Given the description of an element on the screen output the (x, y) to click on. 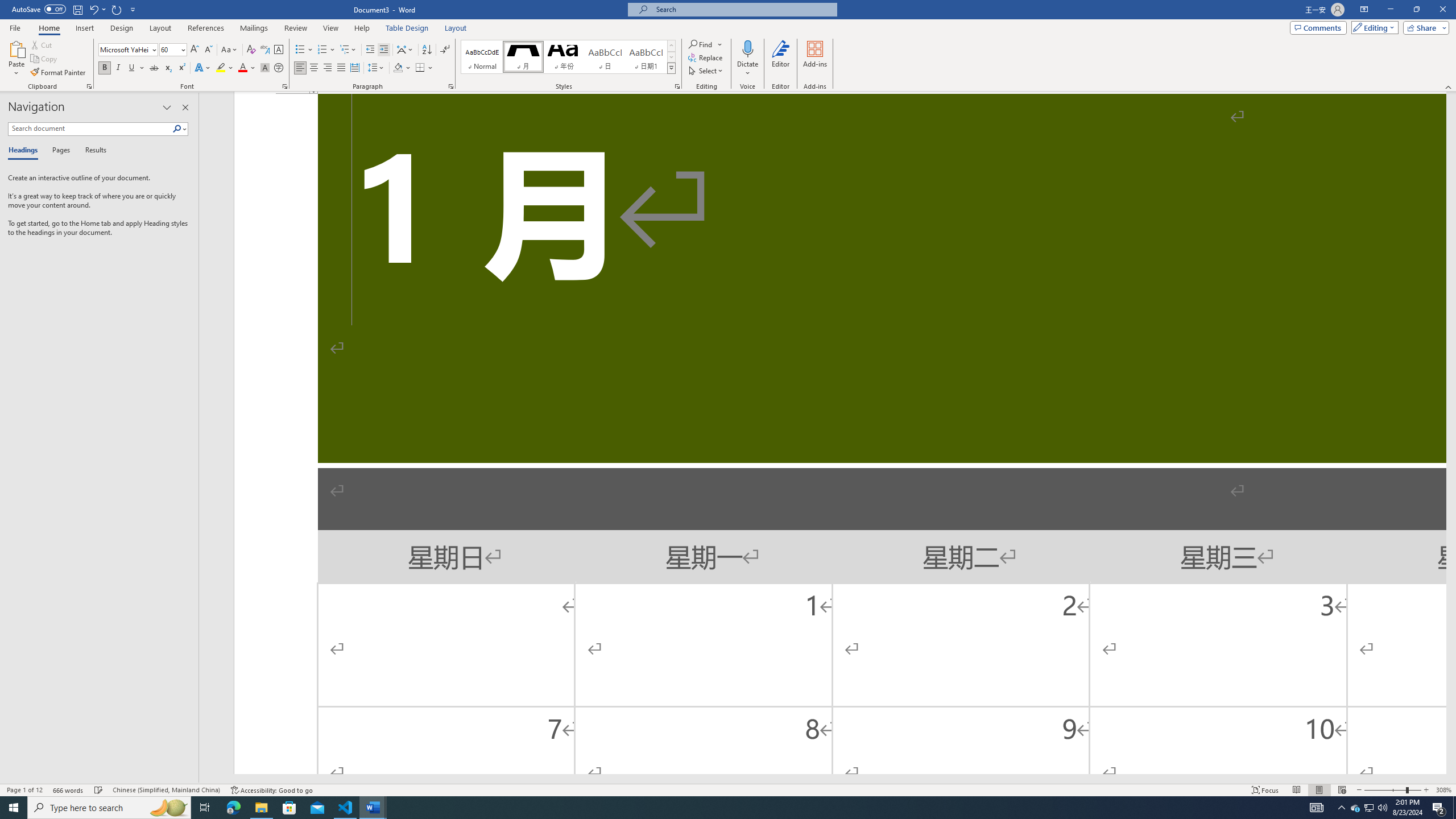
AutomationID: QuickStylesGallery (568, 56)
